Given the description of an element on the screen output the (x, y) to click on. 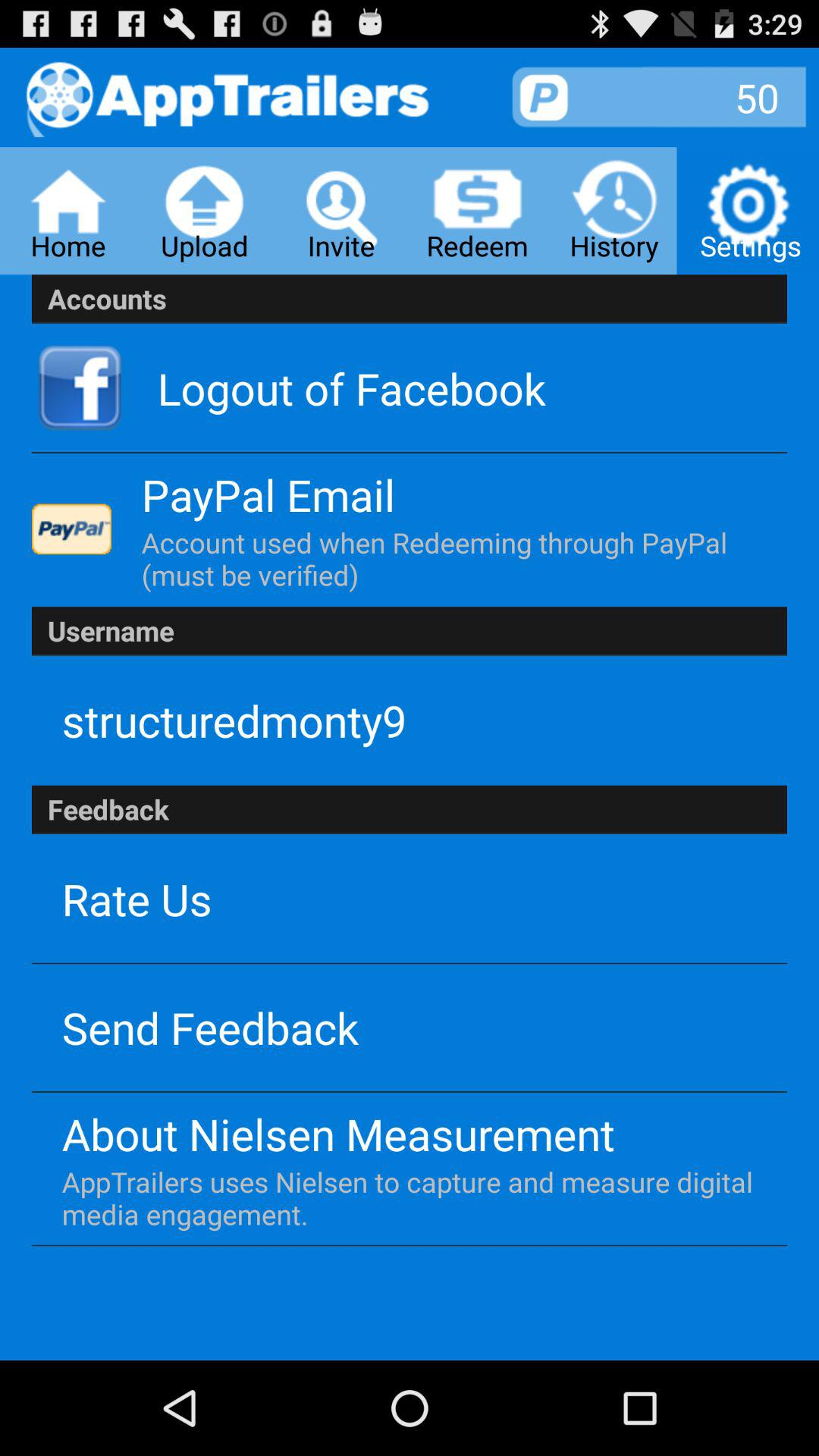
launch app below username icon (233, 720)
